Given the description of an element on the screen output the (x, y) to click on. 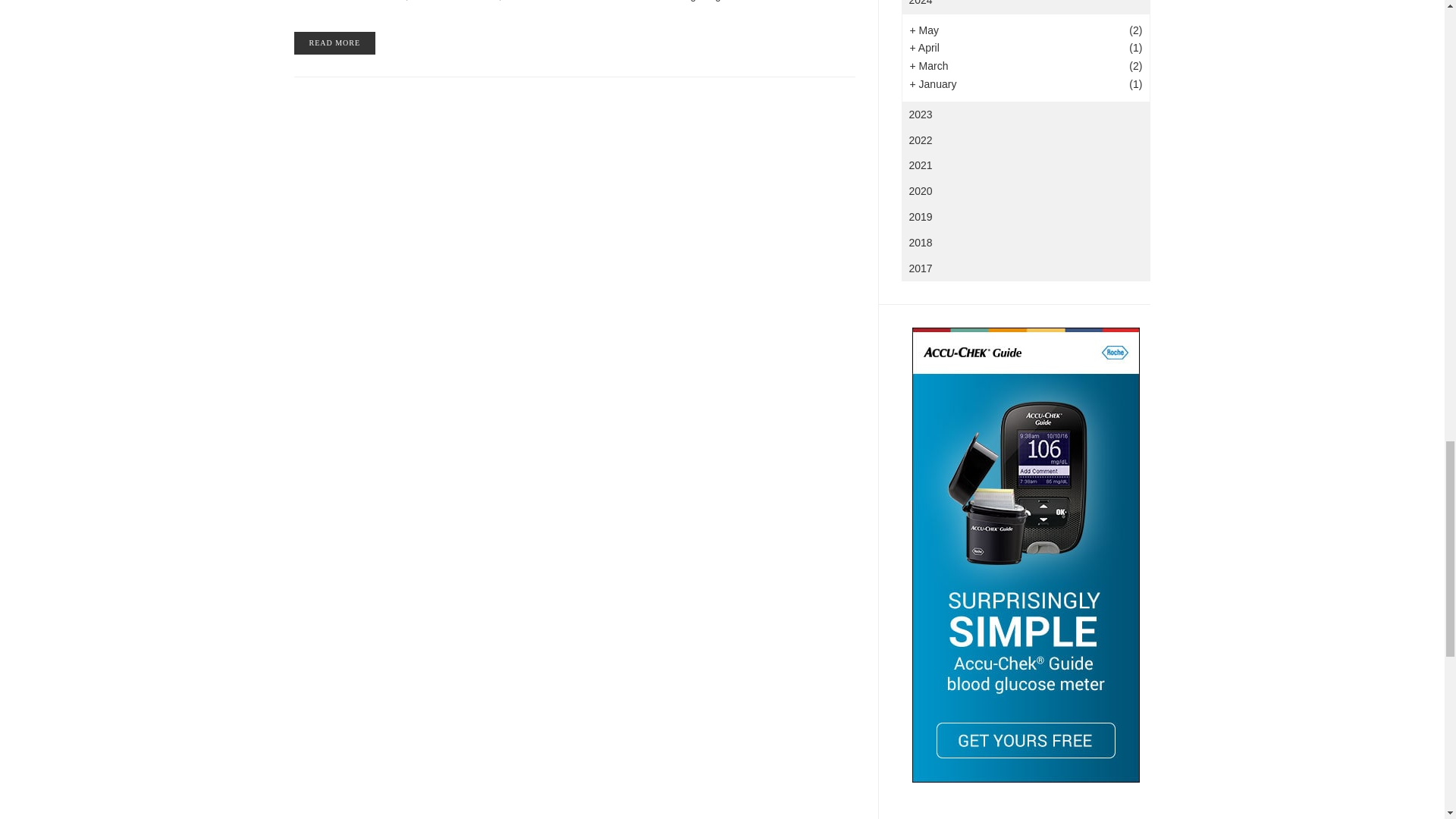
READ MORE (334, 42)
